Given the description of an element on the screen output the (x, y) to click on. 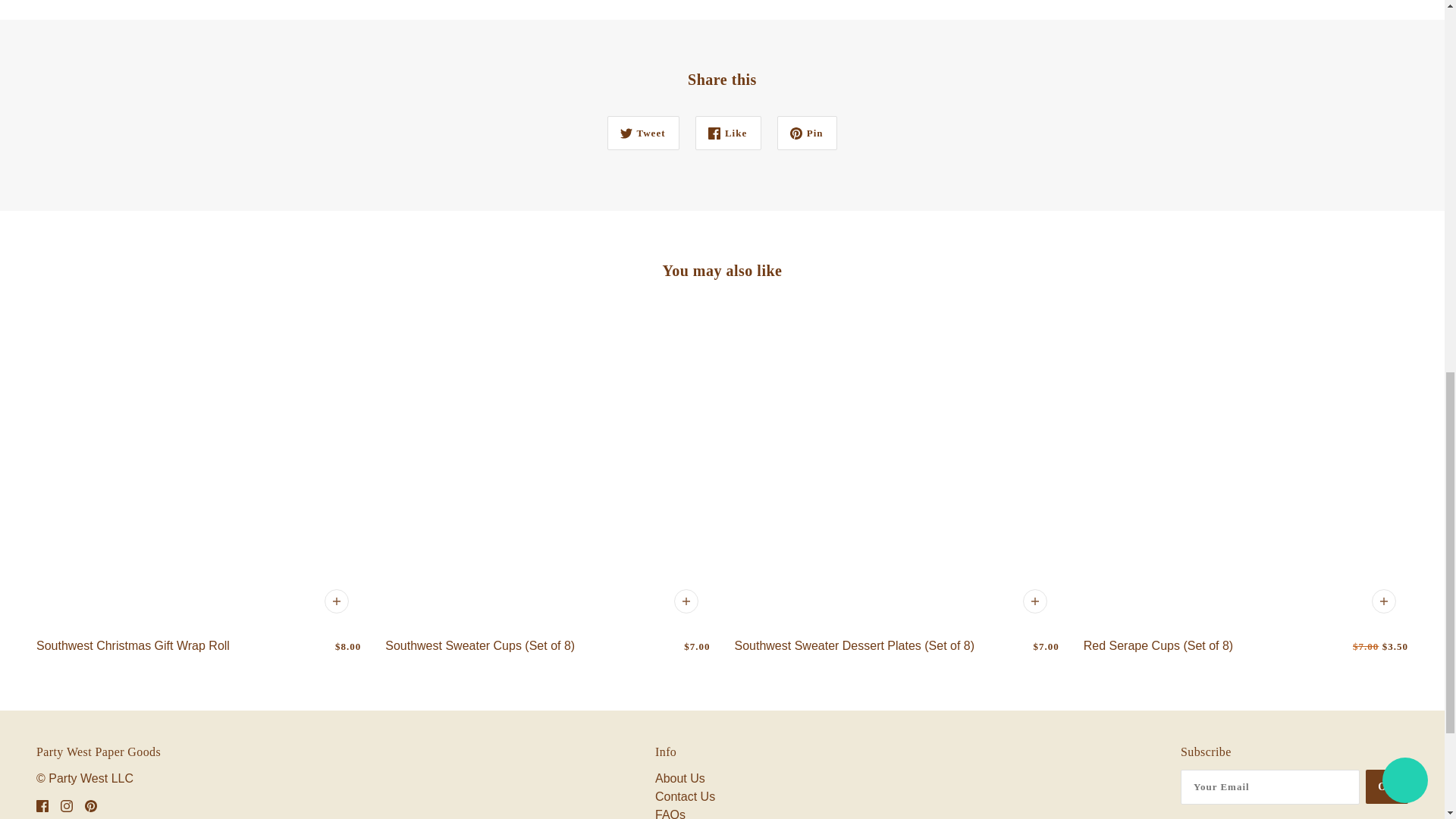
About Us (679, 778)
Contact Us (684, 796)
FAQs (670, 813)
